Given the description of an element on the screen output the (x, y) to click on. 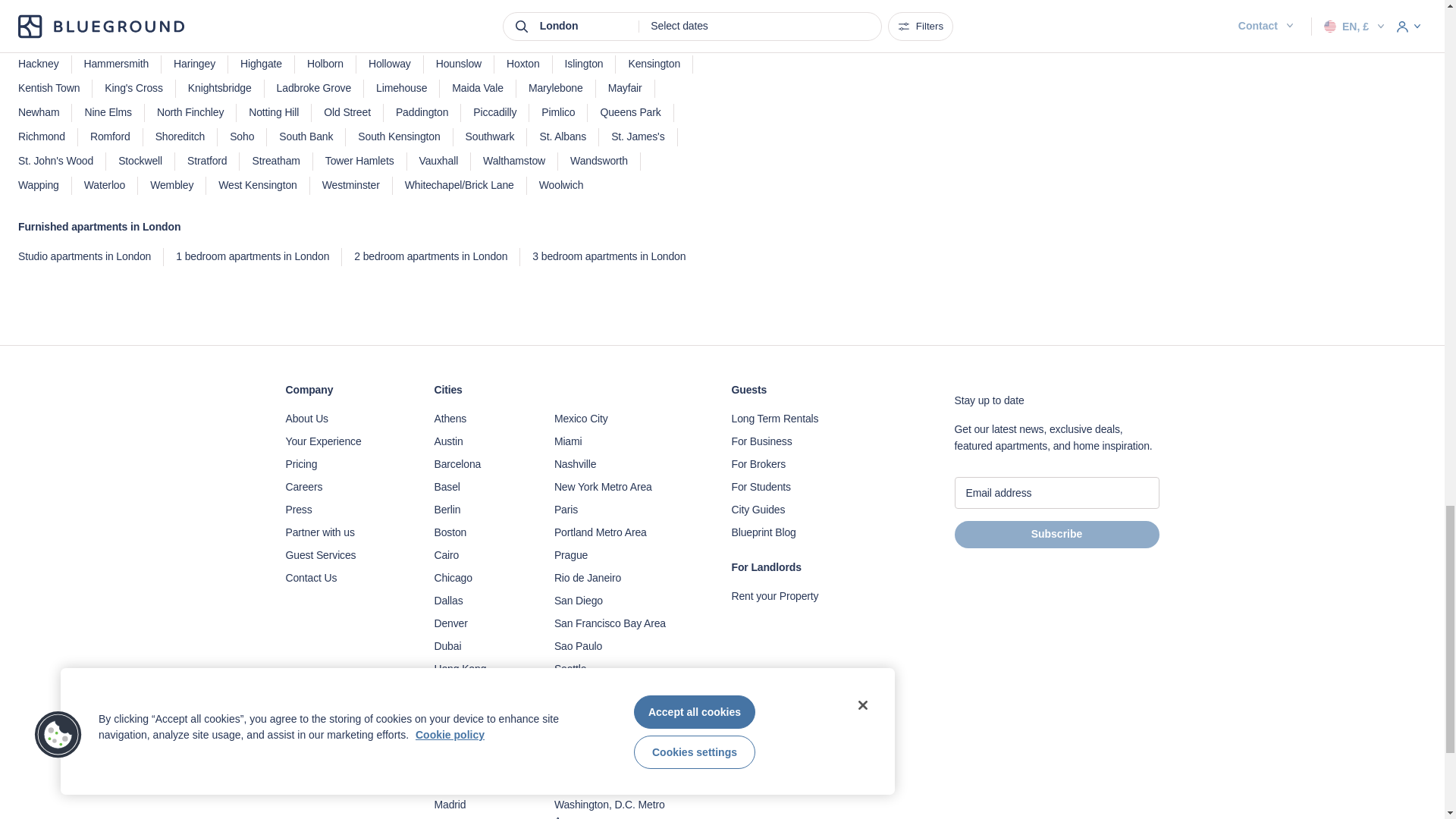
Battersea (164, 0)
Bayswater (235, 0)
Our Guest Services (344, 555)
Earls Court (43, 40)
Blackfriars (485, 0)
Camden Town (50, 15)
Experience Modern Living (344, 442)
Apartment Pricing Policy (344, 464)
Partner with us (344, 532)
Charing cross (230, 15)
